Given the description of an element on the screen output the (x, y) to click on. 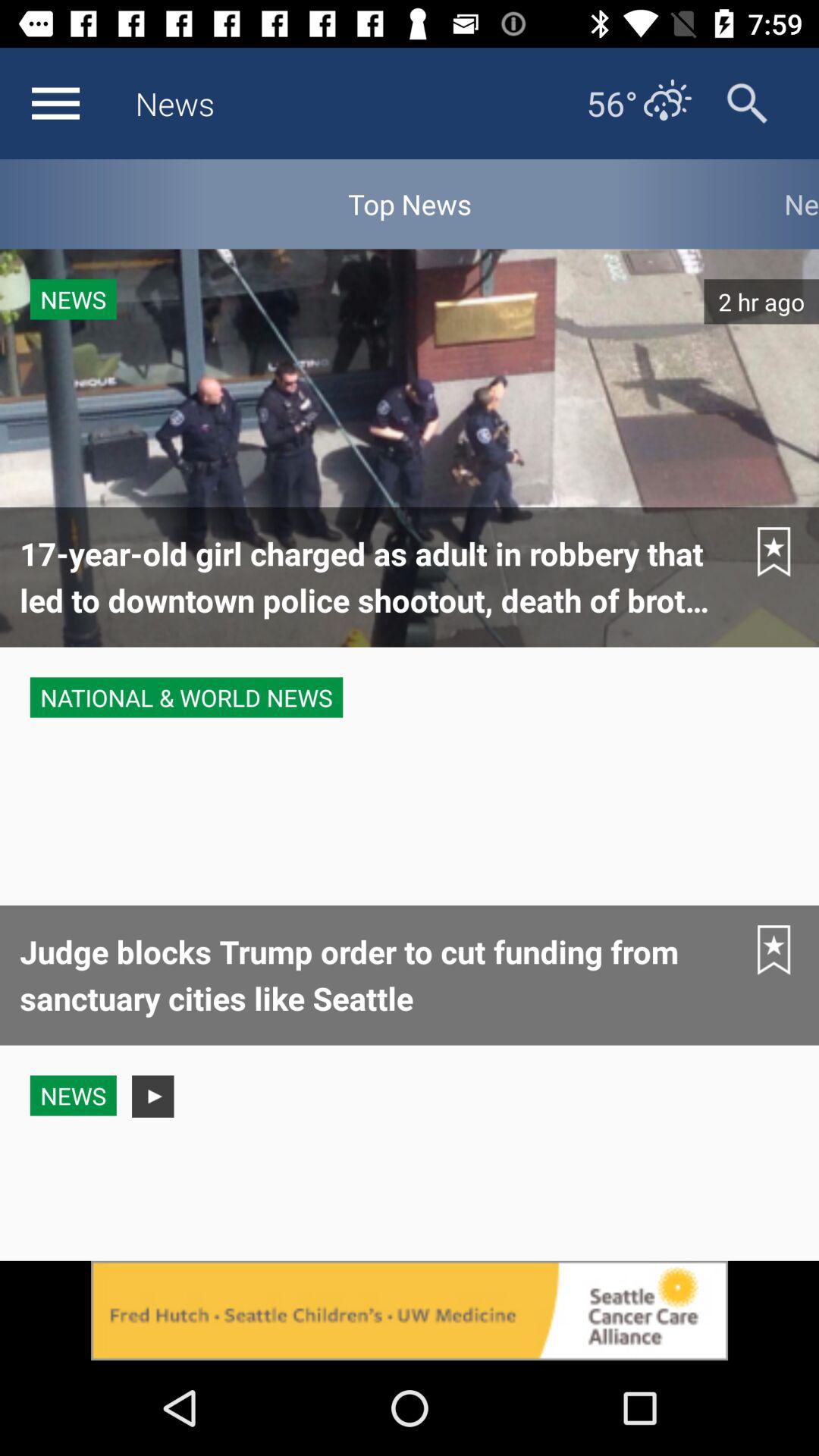
search button (747, 103)
